Given the description of an element on the screen output the (x, y) to click on. 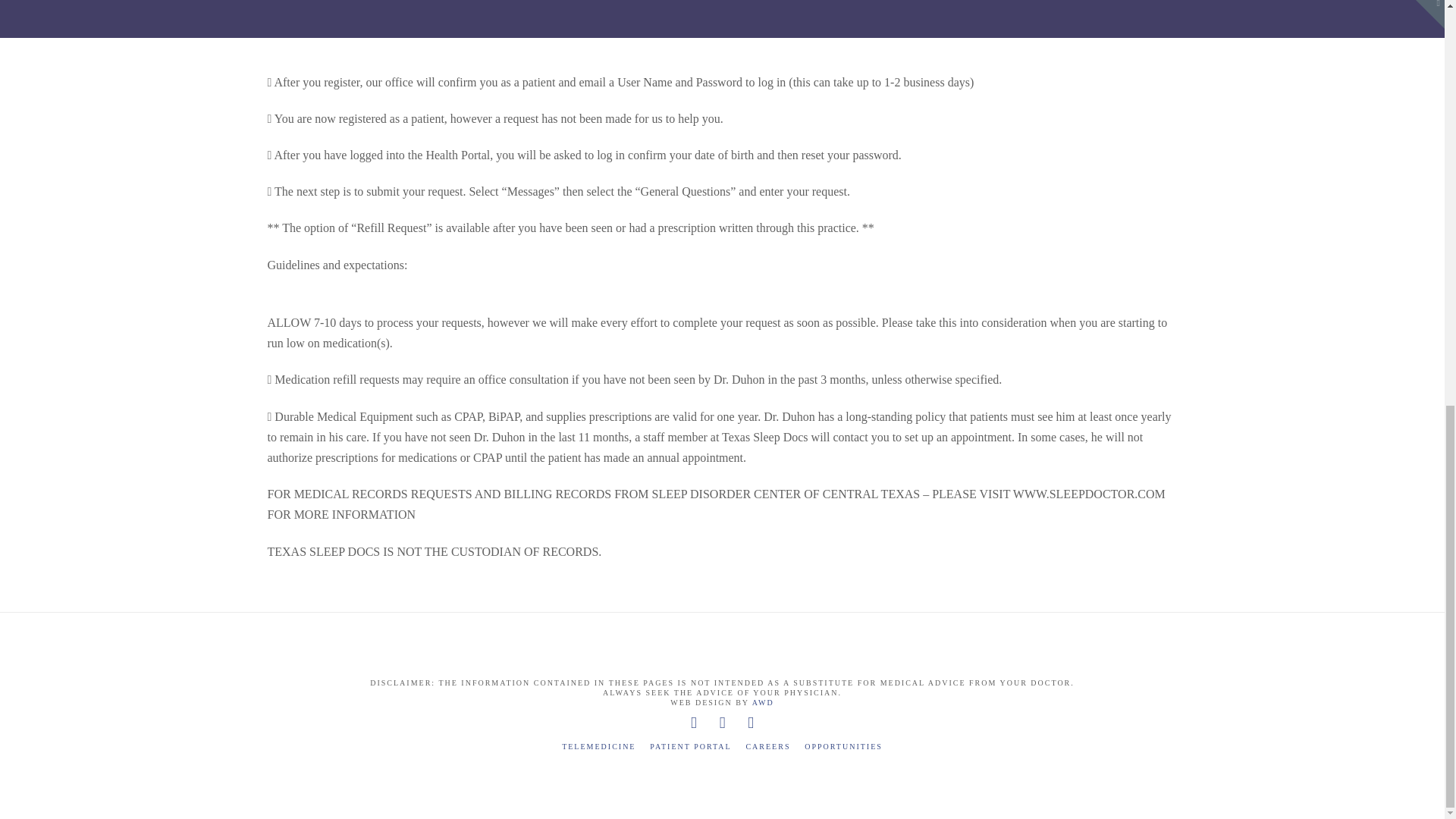
Facebook (693, 722)
AWD (763, 702)
LinkedIn (751, 722)
